Given the description of an element on the screen output the (x, y) to click on. 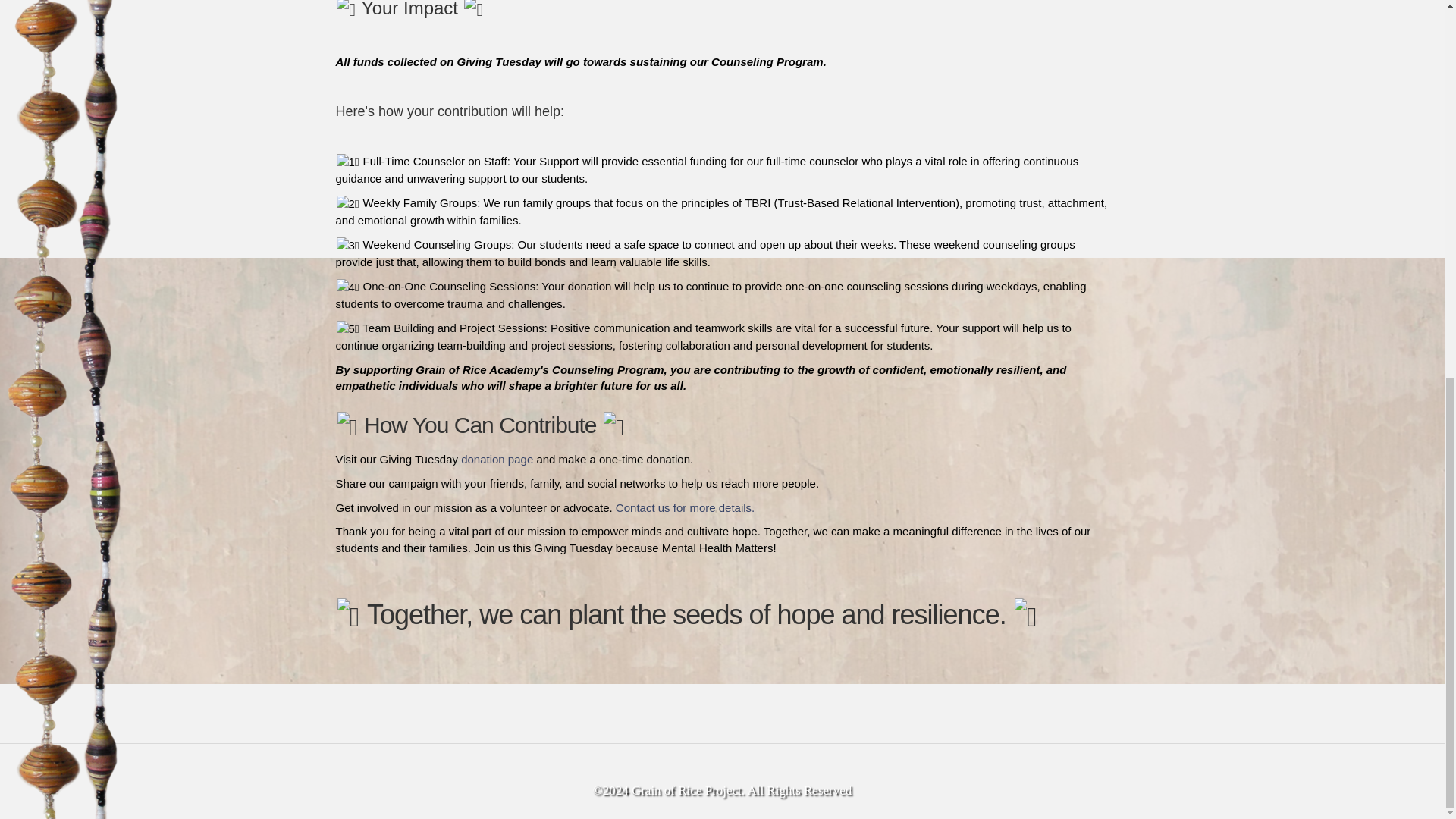
Contact us for more details. (683, 507)
donation page (495, 459)
